Given the description of an element on the screen output the (x, y) to click on. 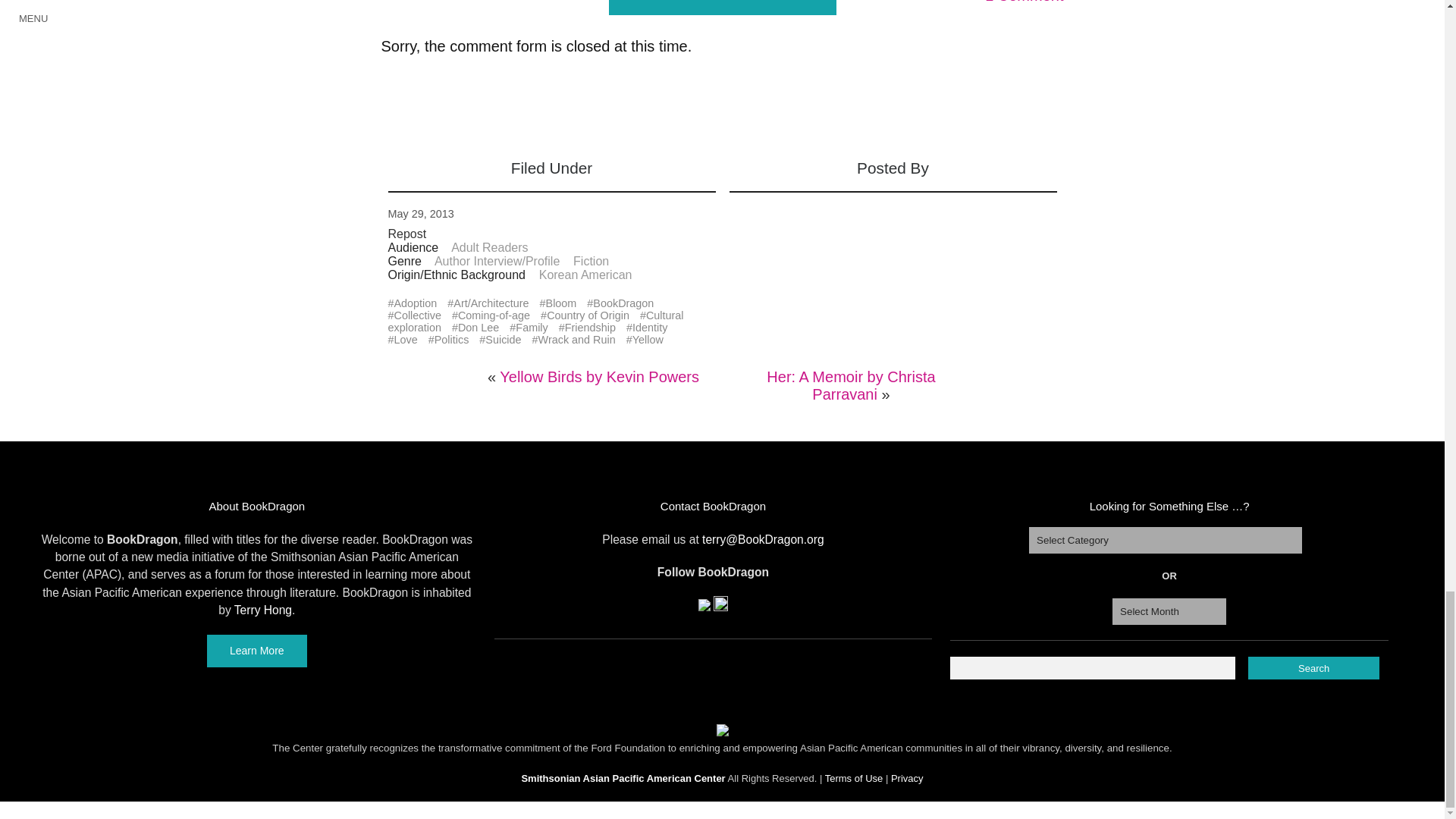
Bloom (561, 303)
Korean American (584, 274)
1 Comment (1023, 2)
Adoption (416, 303)
Fiction (590, 260)
Coming-of-age (493, 315)
BookDragon (622, 303)
Repost (407, 233)
Collective (417, 315)
Adult Readers (489, 246)
Search (1312, 667)
